Given the description of an element on the screen output the (x, y) to click on. 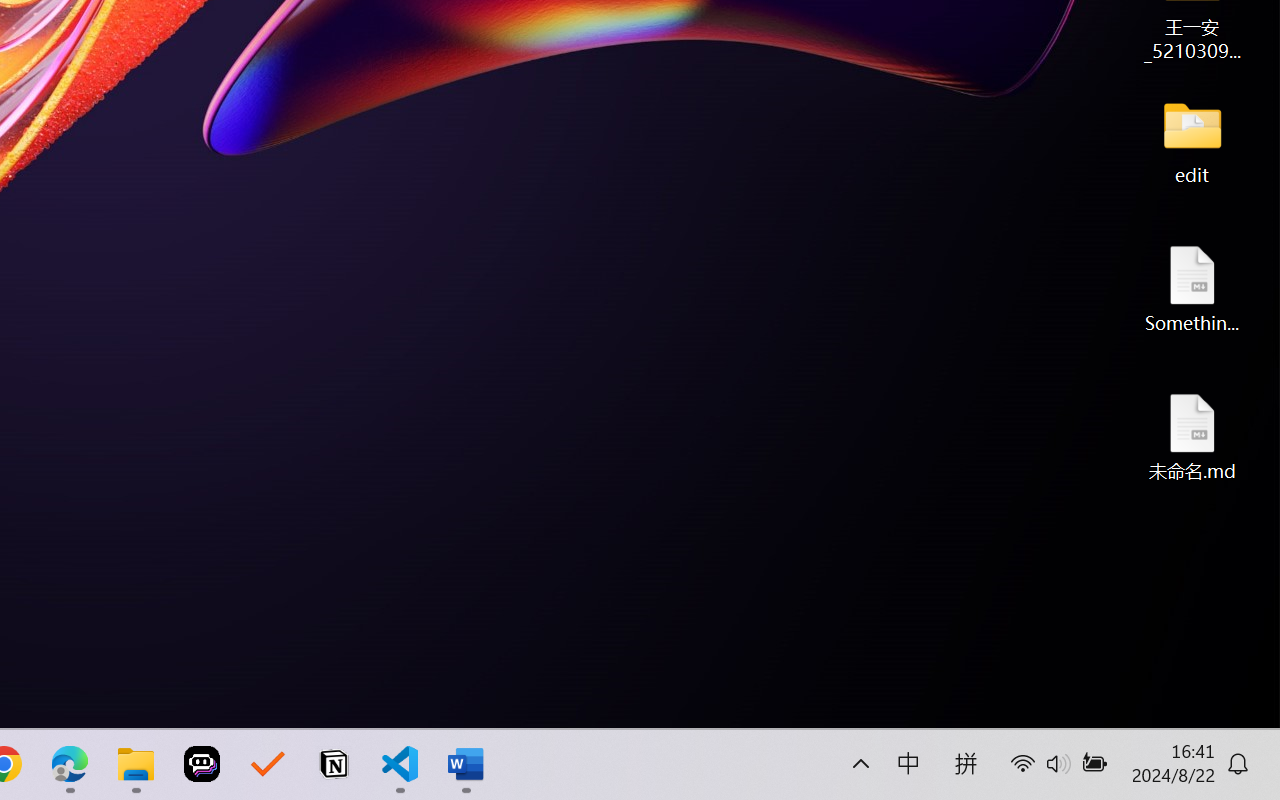
Something.md (1192, 288)
Poe (201, 764)
edit (1192, 140)
Notion (333, 764)
